Given the description of an element on the screen output the (x, y) to click on. 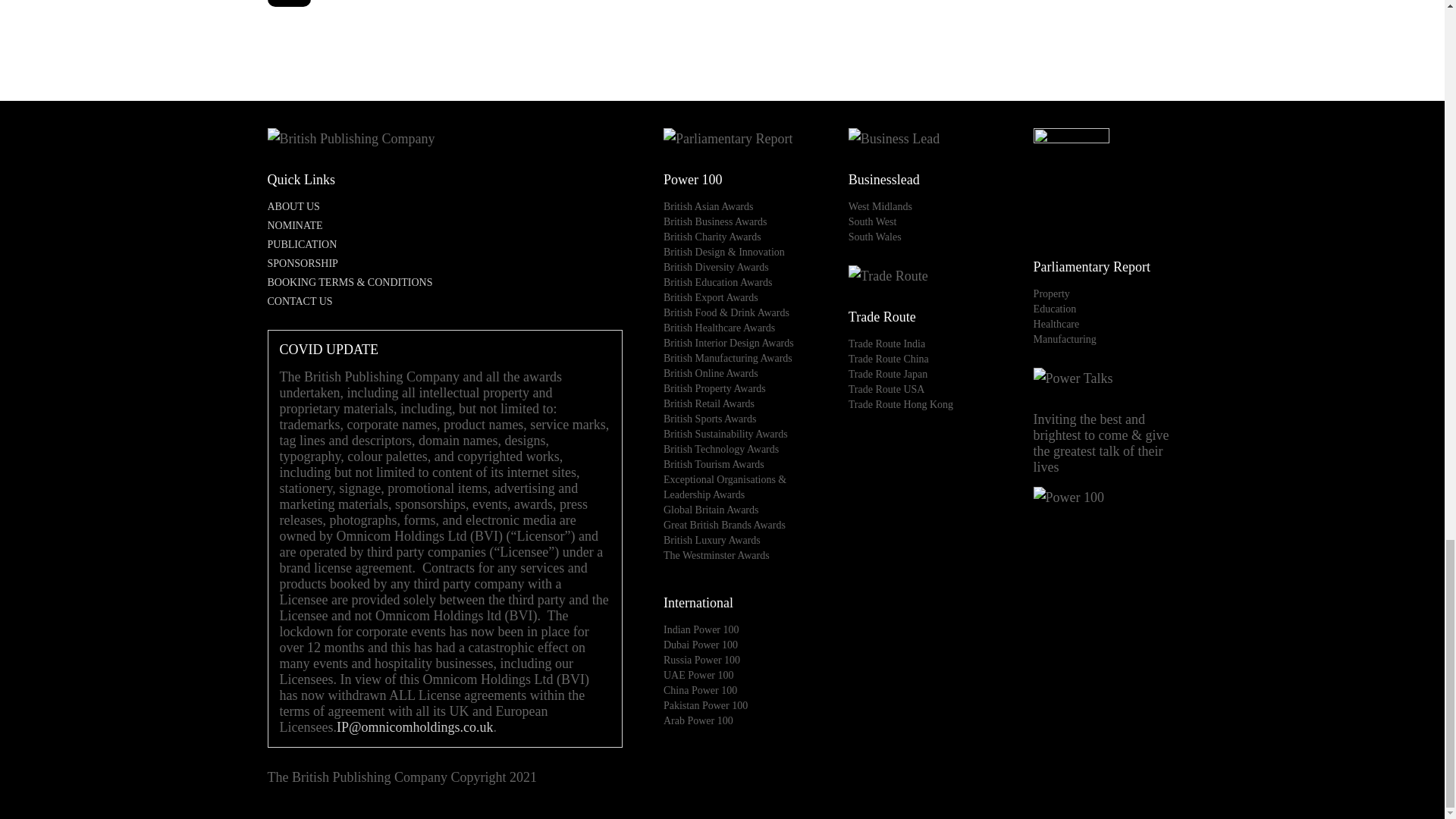
CONTACT US (298, 301)
SPONSORSHIP (443, 263)
PUBLICATION (443, 244)
Next (288, 3)
NOMINATE (443, 225)
ABOUT US (443, 206)
